Given the description of an element on the screen output the (x, y) to click on. 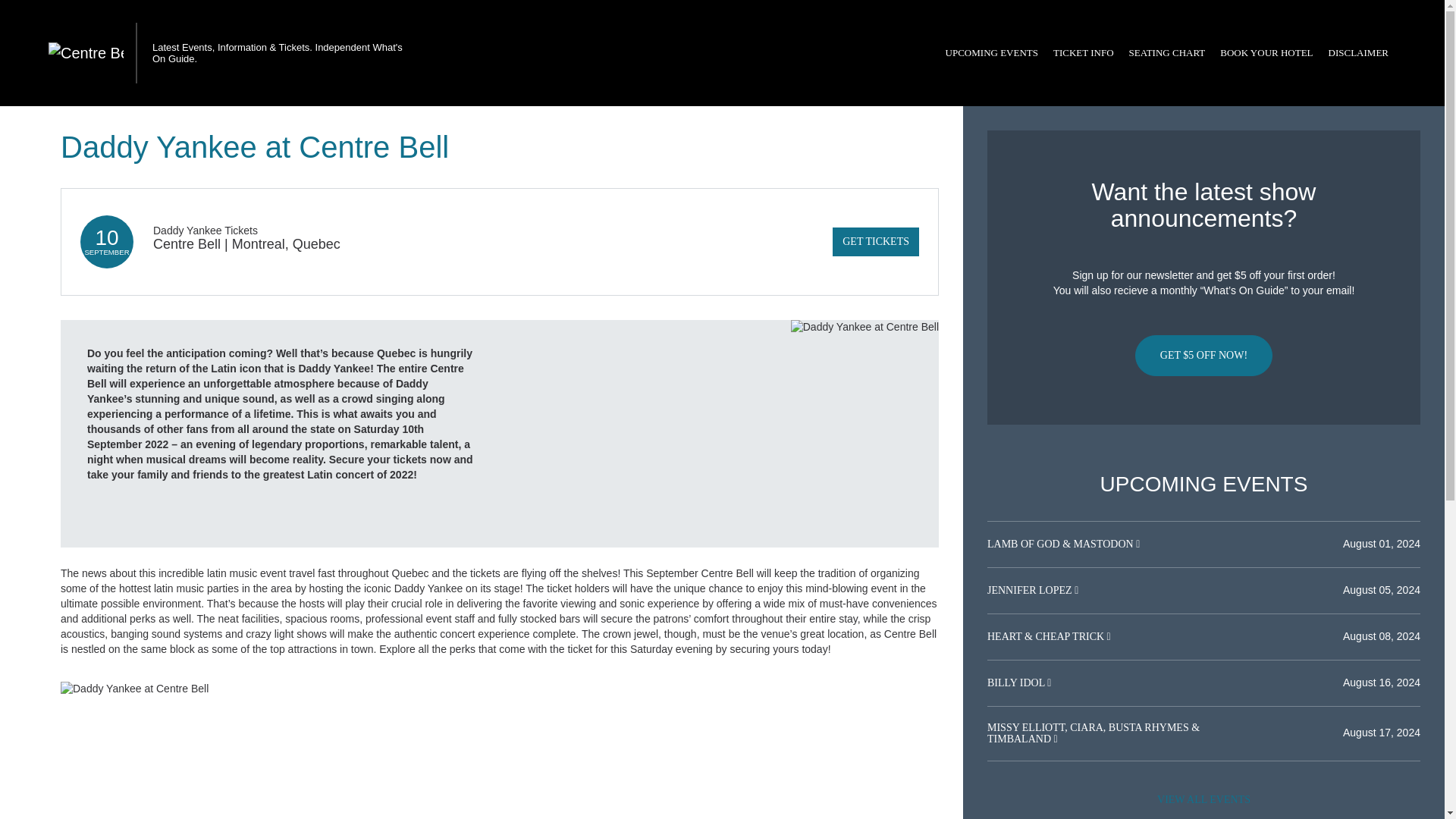
Daddy Yankee at Centre Bell tickets (500, 688)
Daddy Yankee Tickets (204, 230)
UPCOMING EVENTS (991, 52)
TICKET INFO (1083, 52)
BOOK YOUR HOTEL (1266, 52)
VIEW ALL EVENTS (1203, 799)
SEATING CHART (1166, 52)
DISCLAIMER (1358, 52)
GET TICKETS (875, 241)
